Given the description of an element on the screen output the (x, y) to click on. 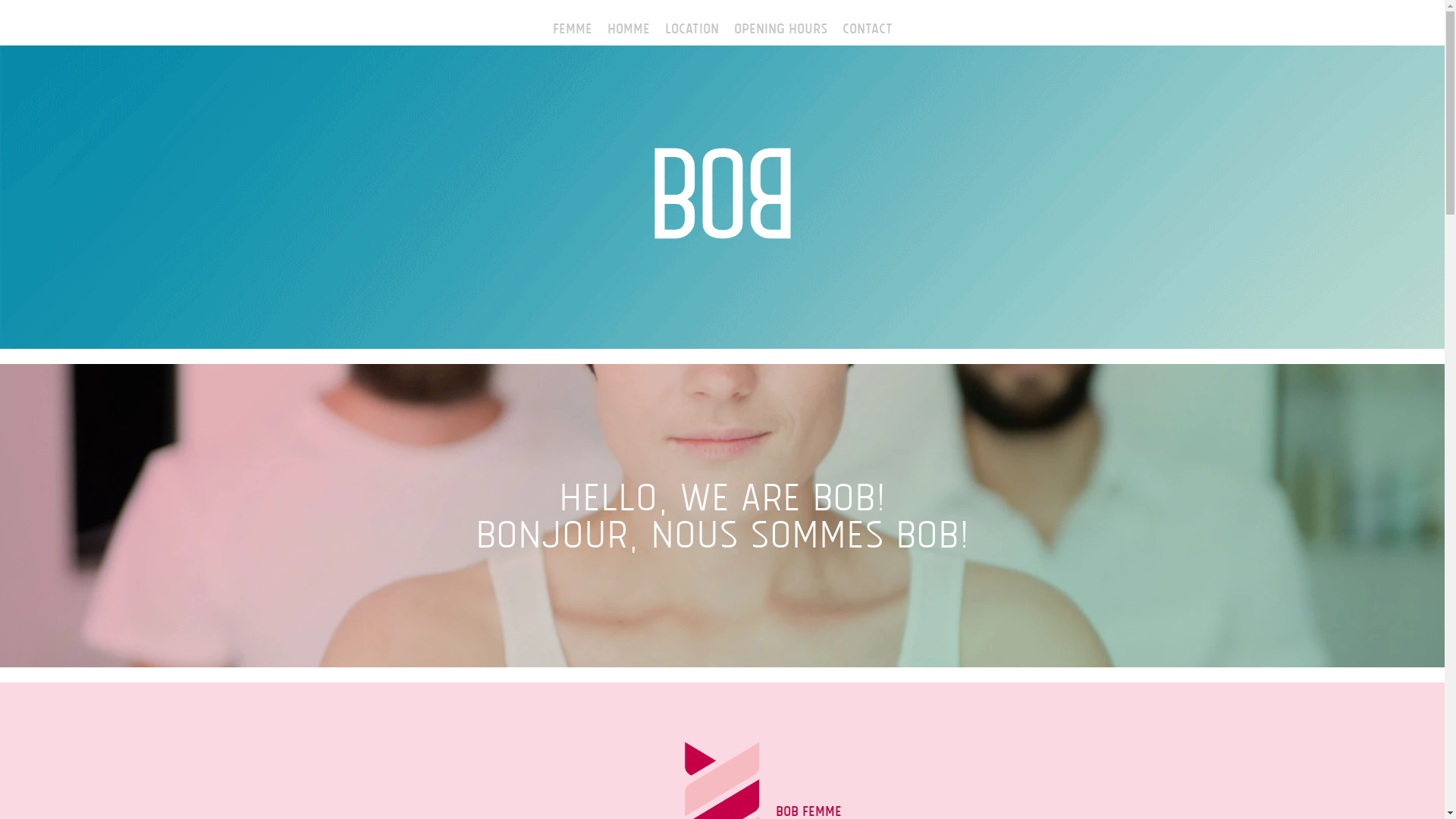
Opening Hours Element type: text (780, 26)
Location Element type: text (690, 26)
Contact Element type: text (866, 26)
FEMME Element type: text (571, 26)
HOMME Element type: text (627, 26)
